Given the description of an element on the screen output the (x, y) to click on. 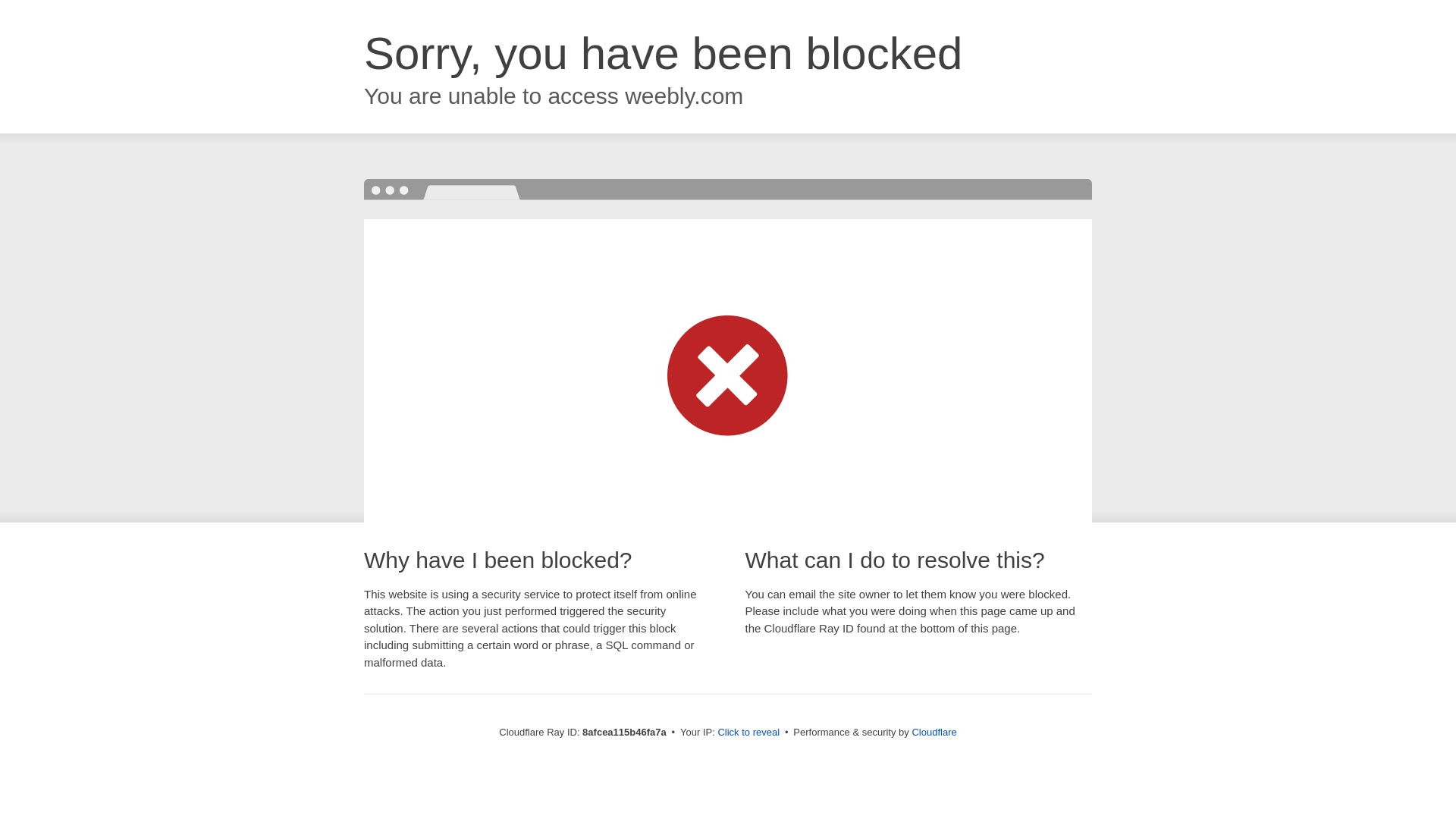
Click to reveal (747, 732)
Cloudflare (933, 731)
